Given the description of an element on the screen output the (x, y) to click on. 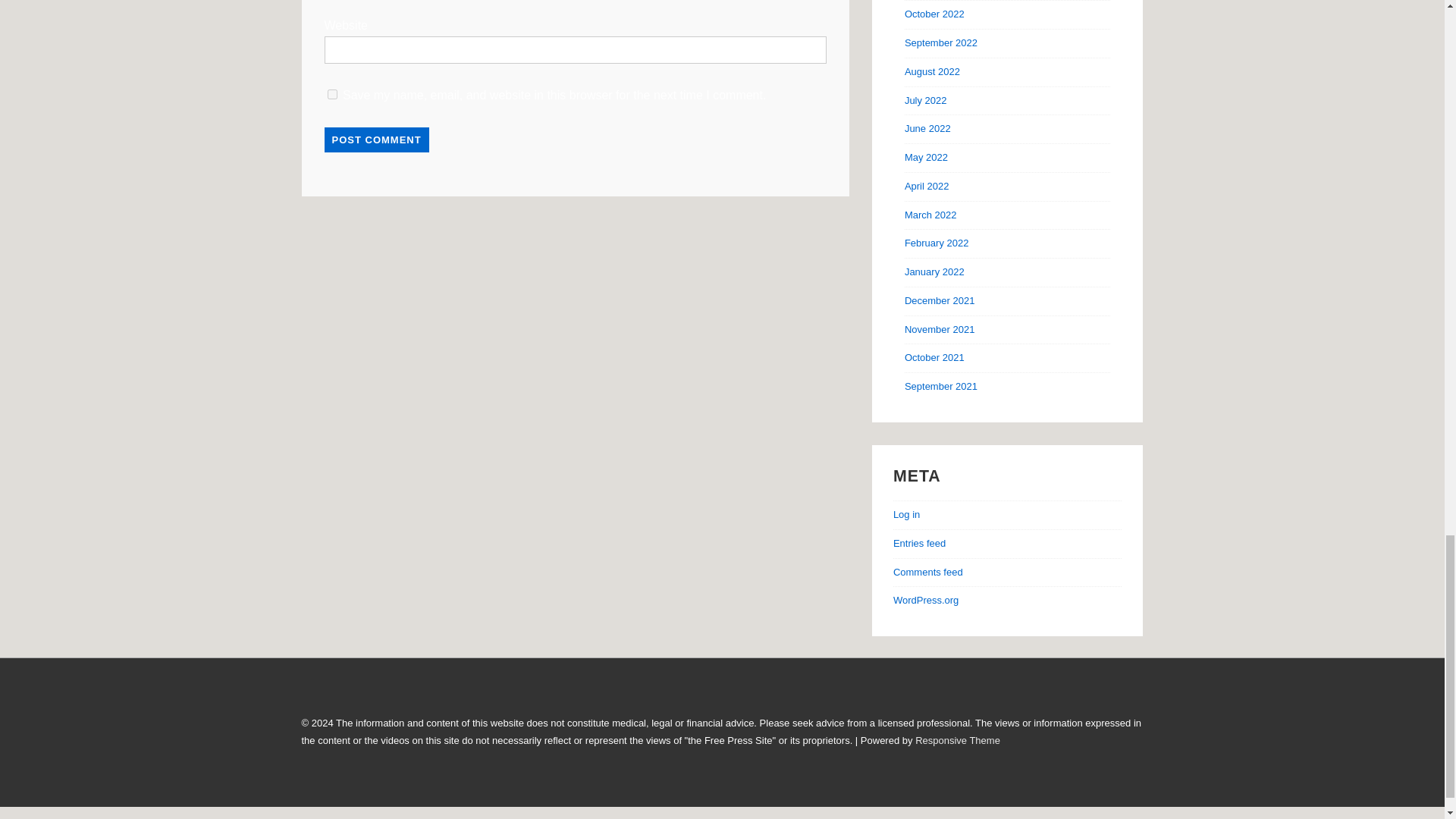
Post Comment (376, 139)
Post Comment (376, 139)
yes (332, 94)
